Given the description of an element on the screen output the (x, y) to click on. 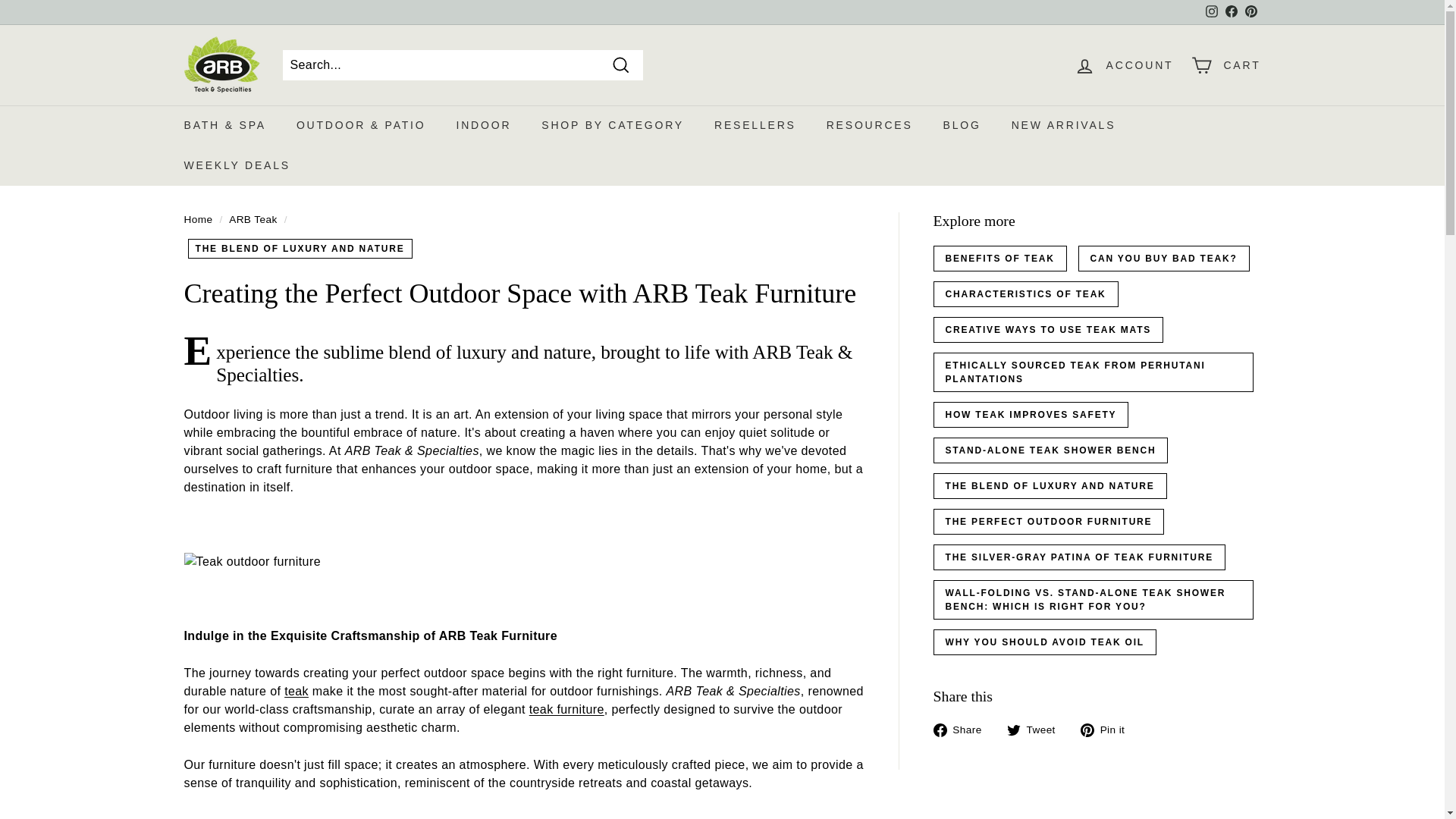
ACCOUNT (1123, 64)
Teak furniture (566, 708)
Share on Facebook (962, 729)
Back to the frontpage (197, 219)
Teak wood (295, 690)
